Given the description of an element on the screen output the (x, y) to click on. 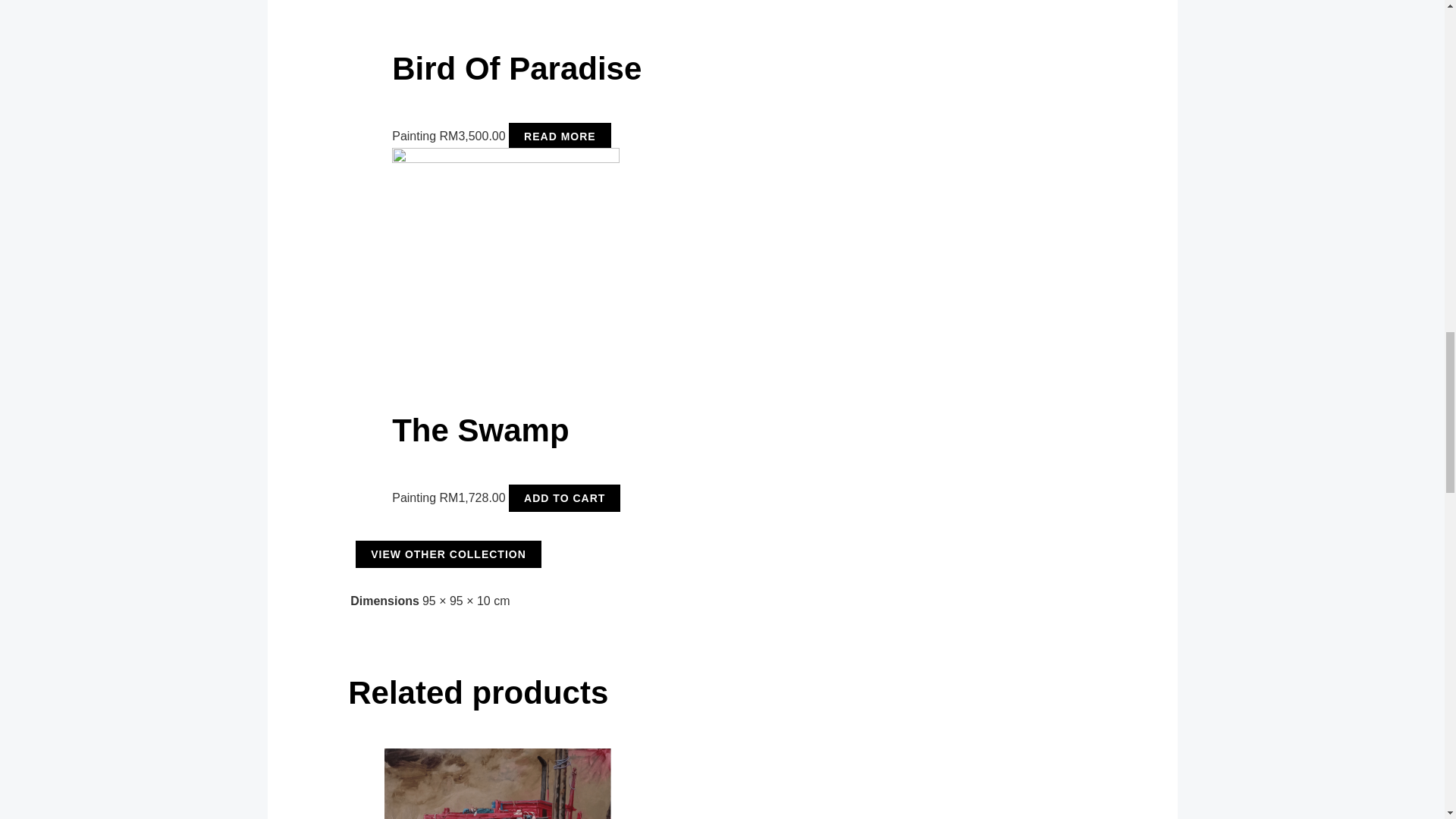
VIEW OTHER COLLECTION (448, 554)
ADD TO CART (564, 497)
The Swamp (654, 452)
READ MORE (559, 135)
Bird Of Paradise (654, 90)
